Given the description of an element on the screen output the (x, y) to click on. 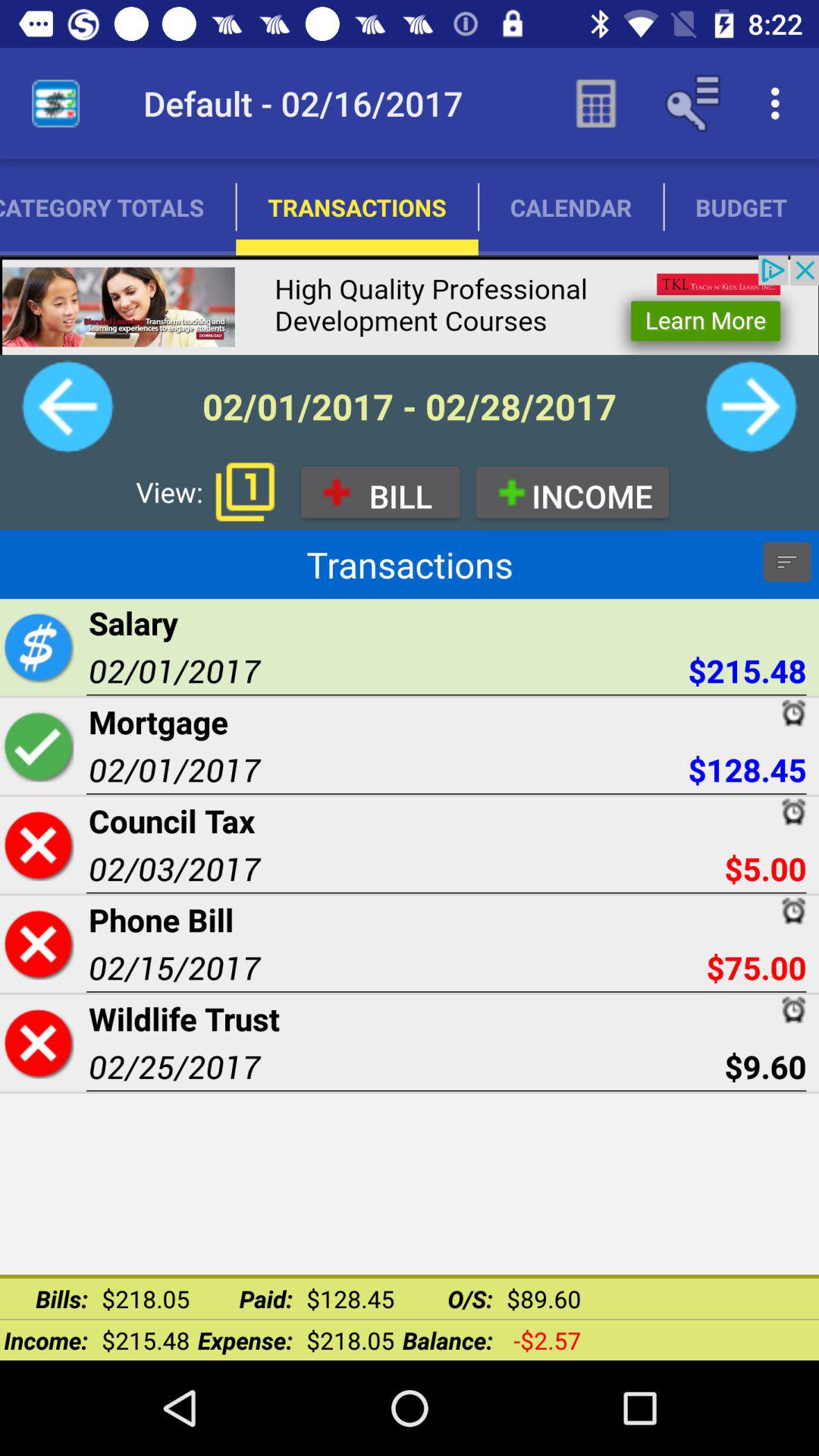
settings (787, 561)
